Given the description of an element on the screen output the (x, y) to click on. 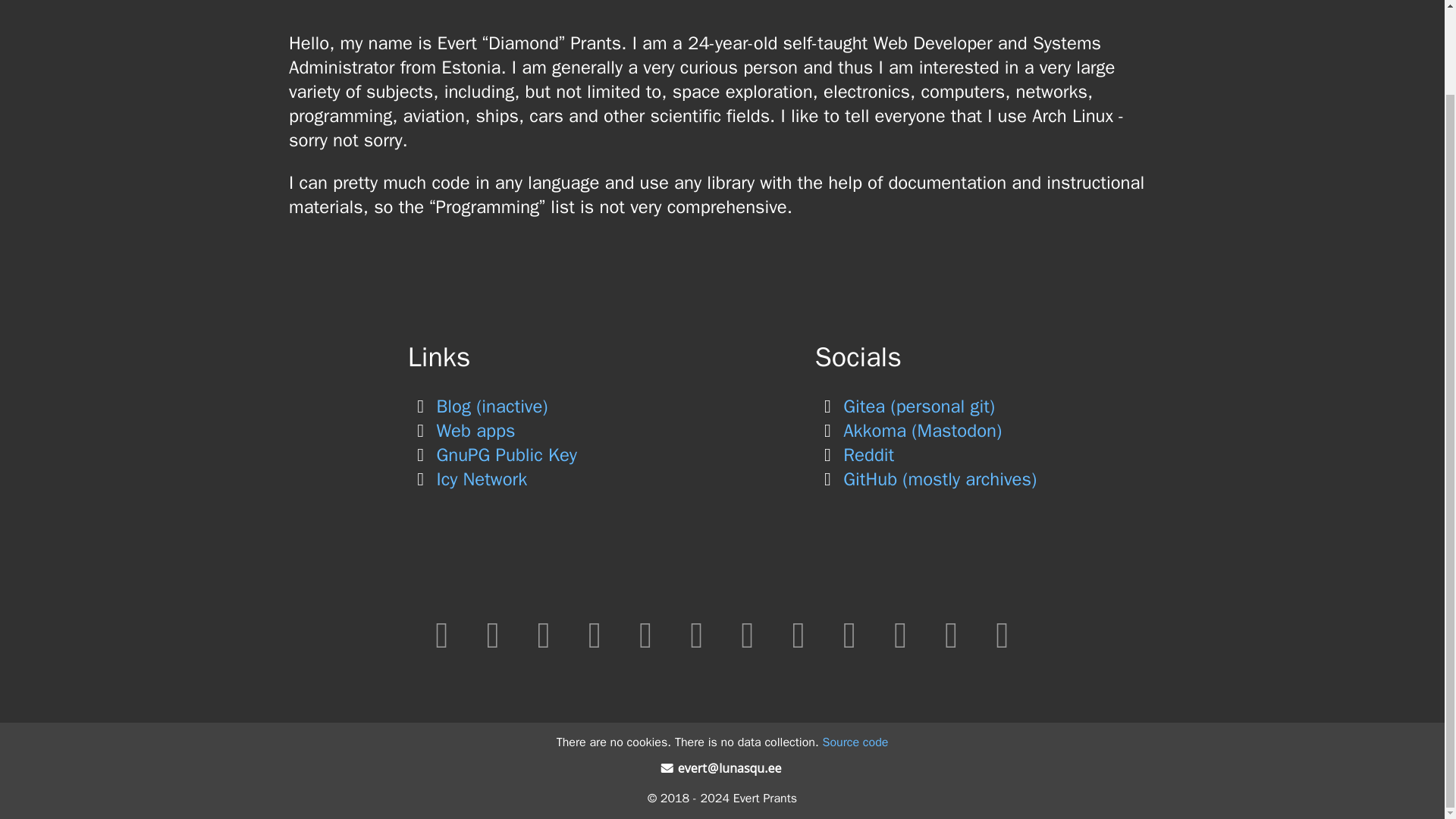
Reddit (855, 454)
GnuPG Public Key (491, 454)
Nuxt (849, 635)
Node.js (594, 635)
Python (951, 635)
Flutter (900, 635)
TypeScript (543, 635)
Source code (855, 742)
Web apps (461, 430)
JavaScript (492, 635)
